Given the description of an element on the screen output the (x, y) to click on. 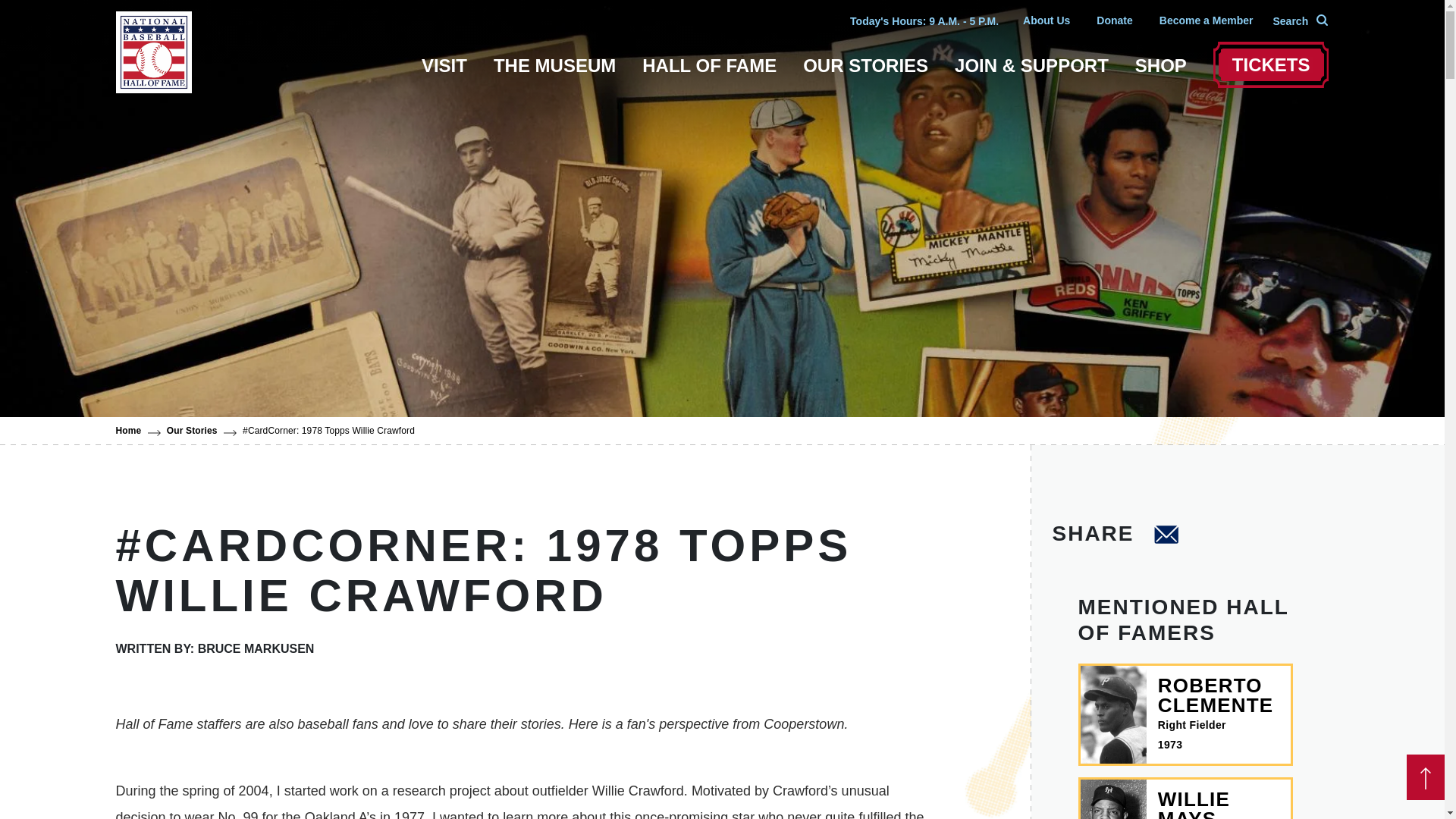
About Us (1046, 20)
Become a Member (1205, 20)
THE MUSEUM (554, 68)
HALL OF FAME (709, 68)
OUR STORIES (865, 68)
Donate (1114, 20)
